Given the description of an element on the screen output the (x, y) to click on. 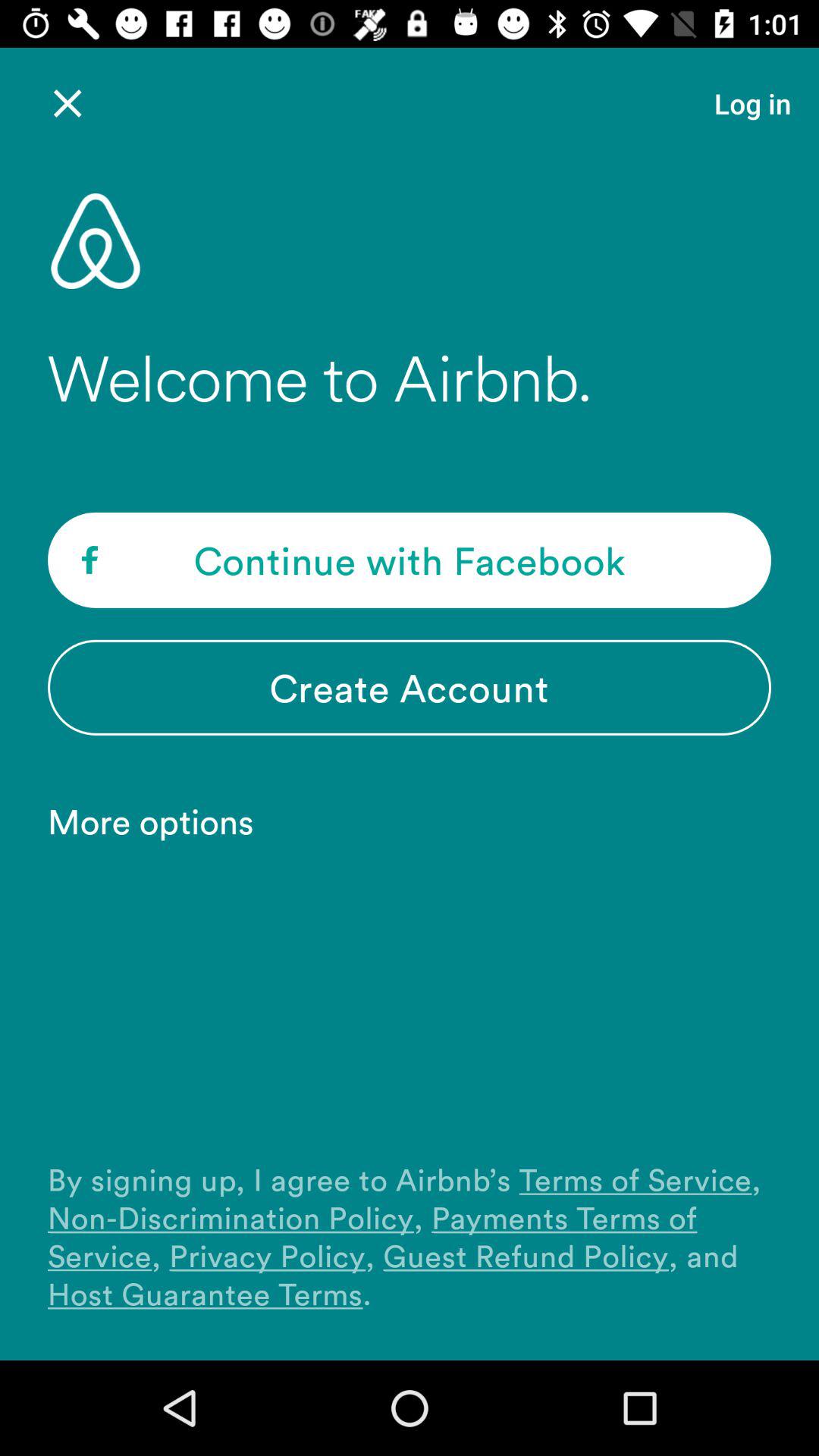
press the item below more options item (409, 1235)
